Given the description of an element on the screen output the (x, y) to click on. 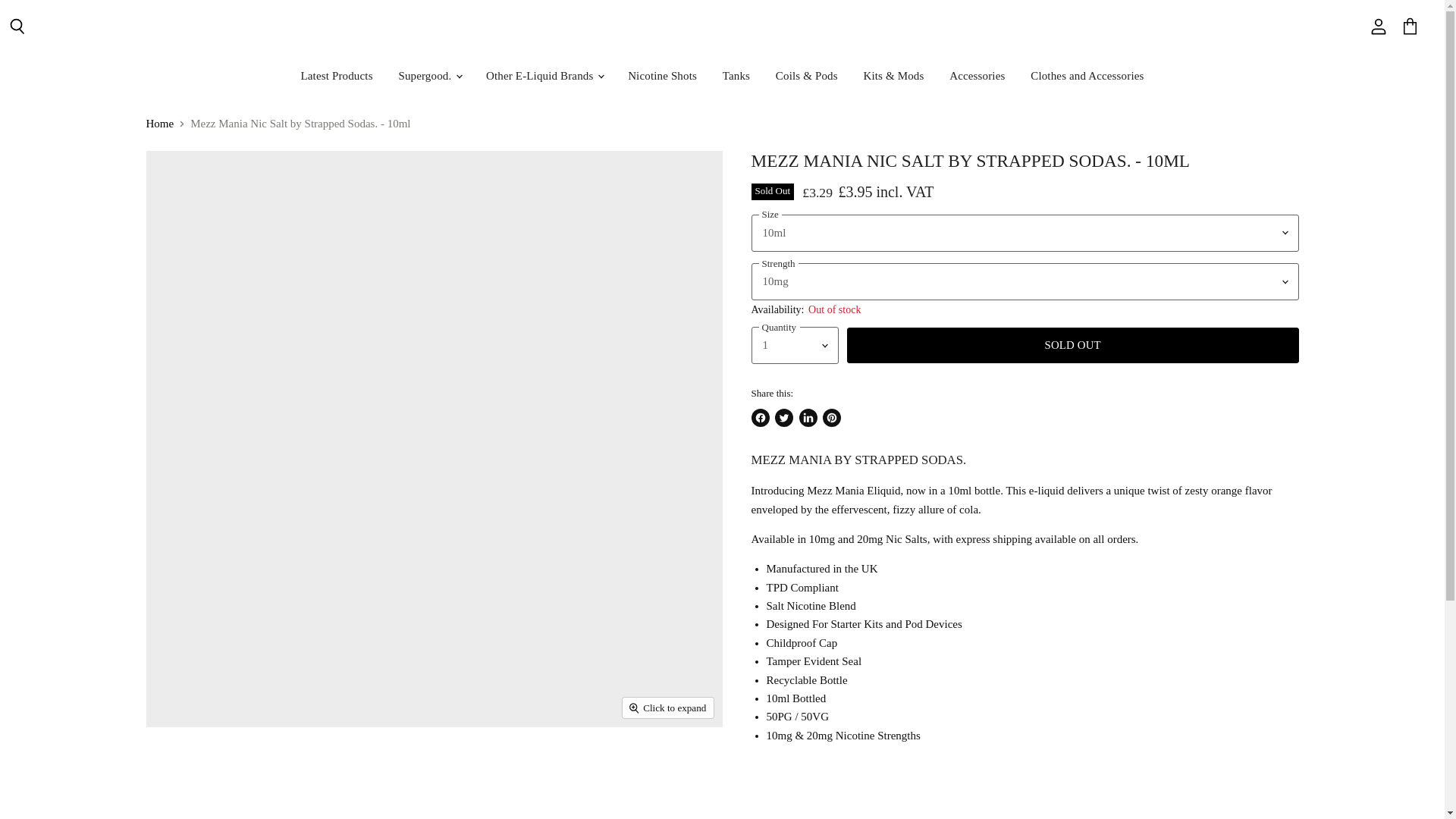
View account (1377, 27)
Search (17, 27)
Latest Products (336, 75)
Other E-Liquid Brands (543, 75)
Supergood. (429, 75)
